Given the description of an element on the screen output the (x, y) to click on. 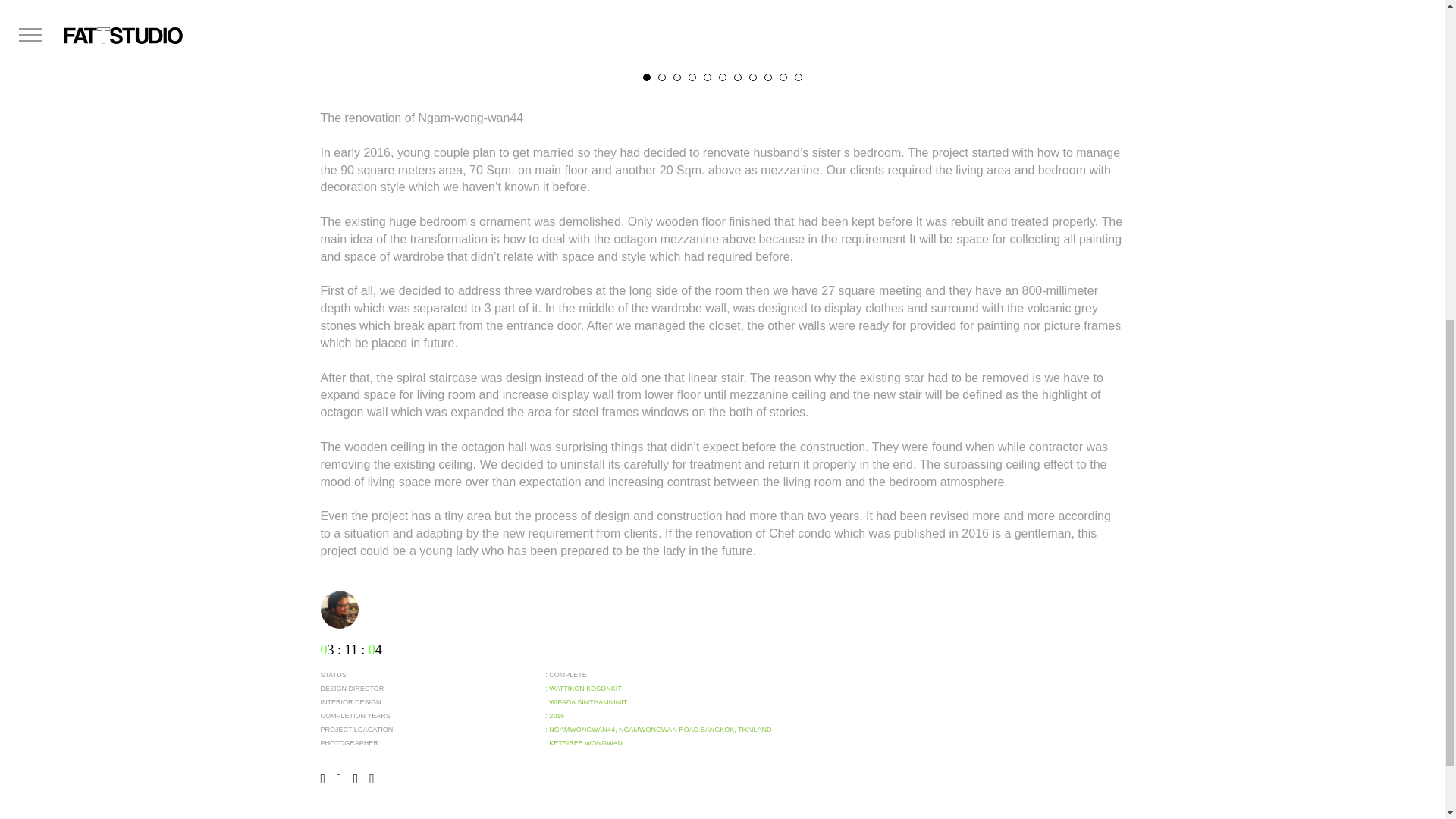
3 (676, 77)
7 (737, 77)
2 (661, 77)
1 (646, 77)
4 (691, 77)
10 (782, 77)
8 (753, 77)
9 (767, 77)
11 (798, 77)
5 (707, 77)
